Given the description of an element on the screen output the (x, y) to click on. 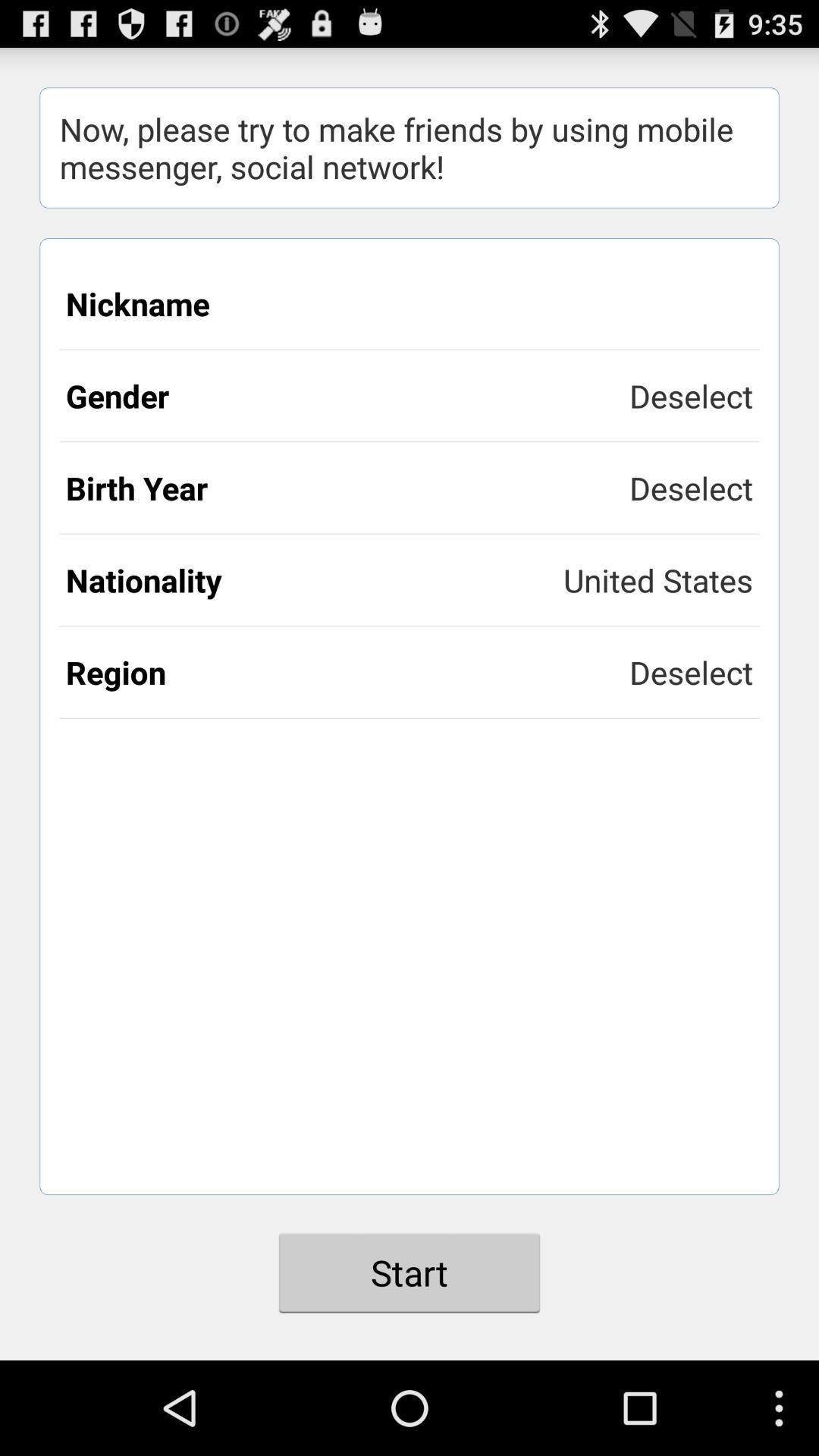
choose the item next to the nationality app (658, 579)
